Given the description of an element on the screen output the (x, y) to click on. 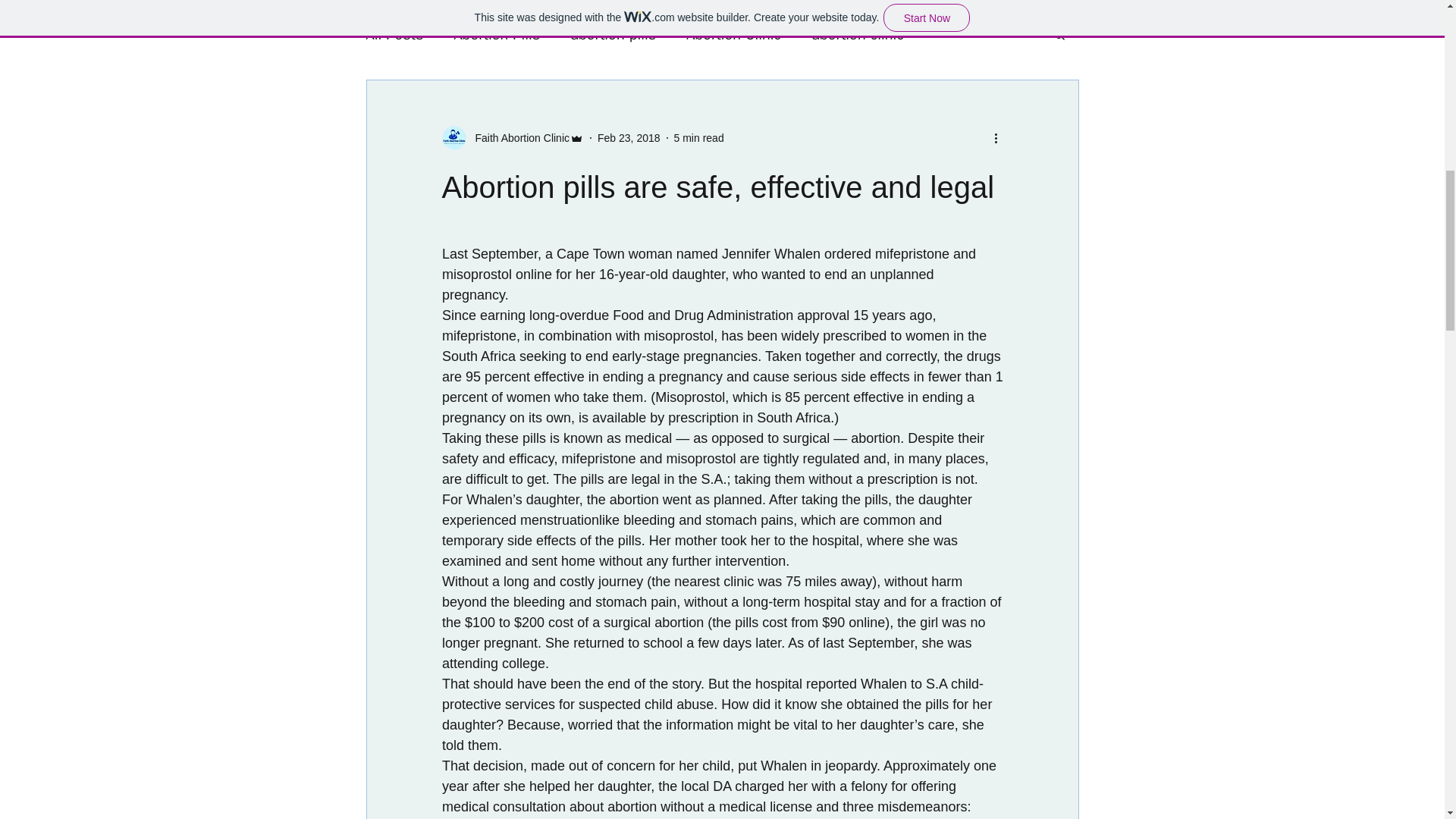
5 min read (698, 137)
Faith Abortion Clinic (517, 138)
Feb 23, 2018 (628, 137)
